Given the description of an element on the screen output the (x, y) to click on. 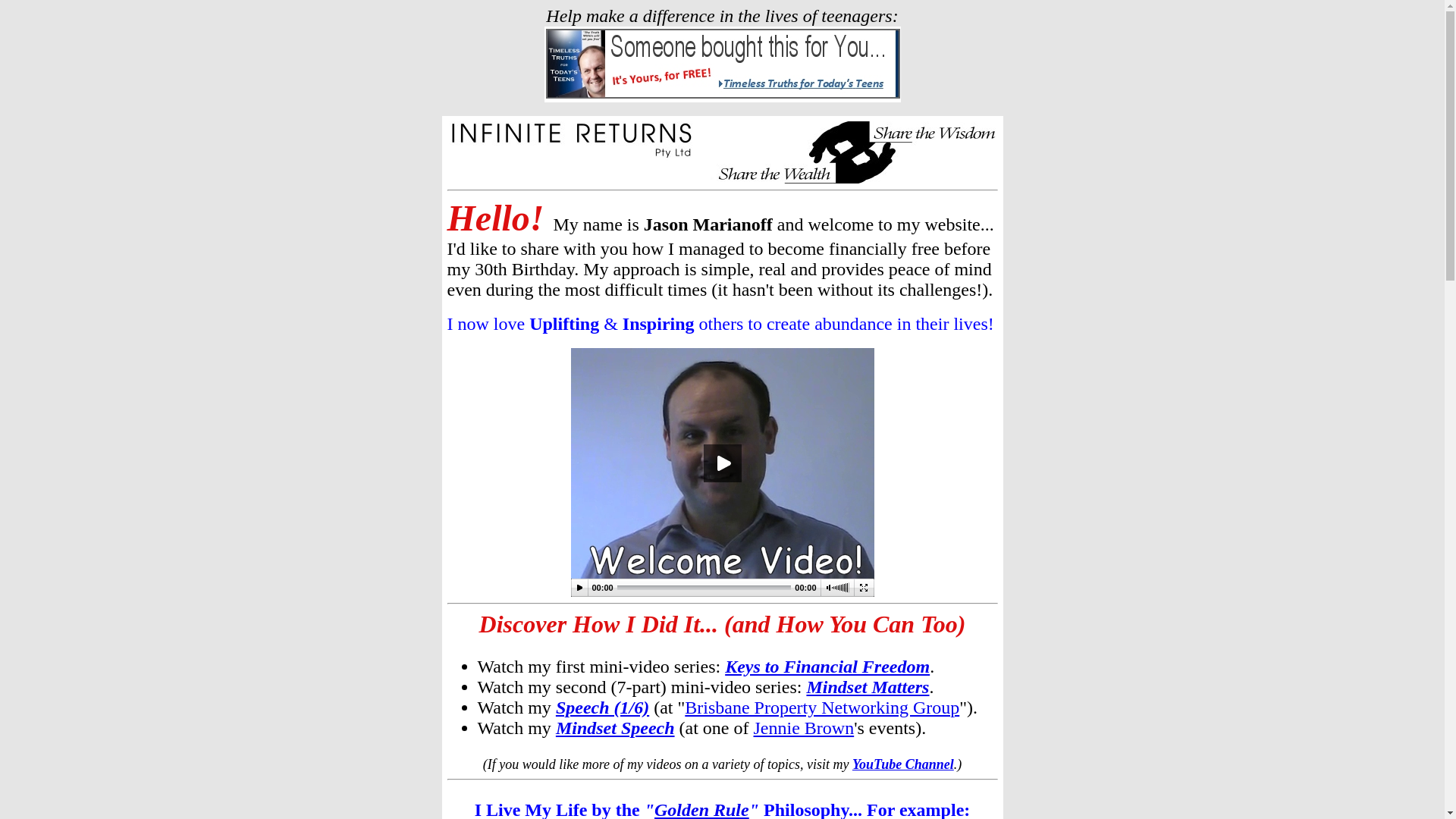
Mindset Matters Element type: text (867, 686)
Jennie Brown Element type: text (803, 727)
Speech (1/6) Element type: text (602, 707)
Brisbane Property Networking Group Element type: text (821, 707)
YouTube Channel Element type: text (902, 763)
Mindset Speech Element type: text (614, 727)
Keys to Financial Freedom Element type: text (826, 666)
